Given the description of an element on the screen output the (x, y) to click on. 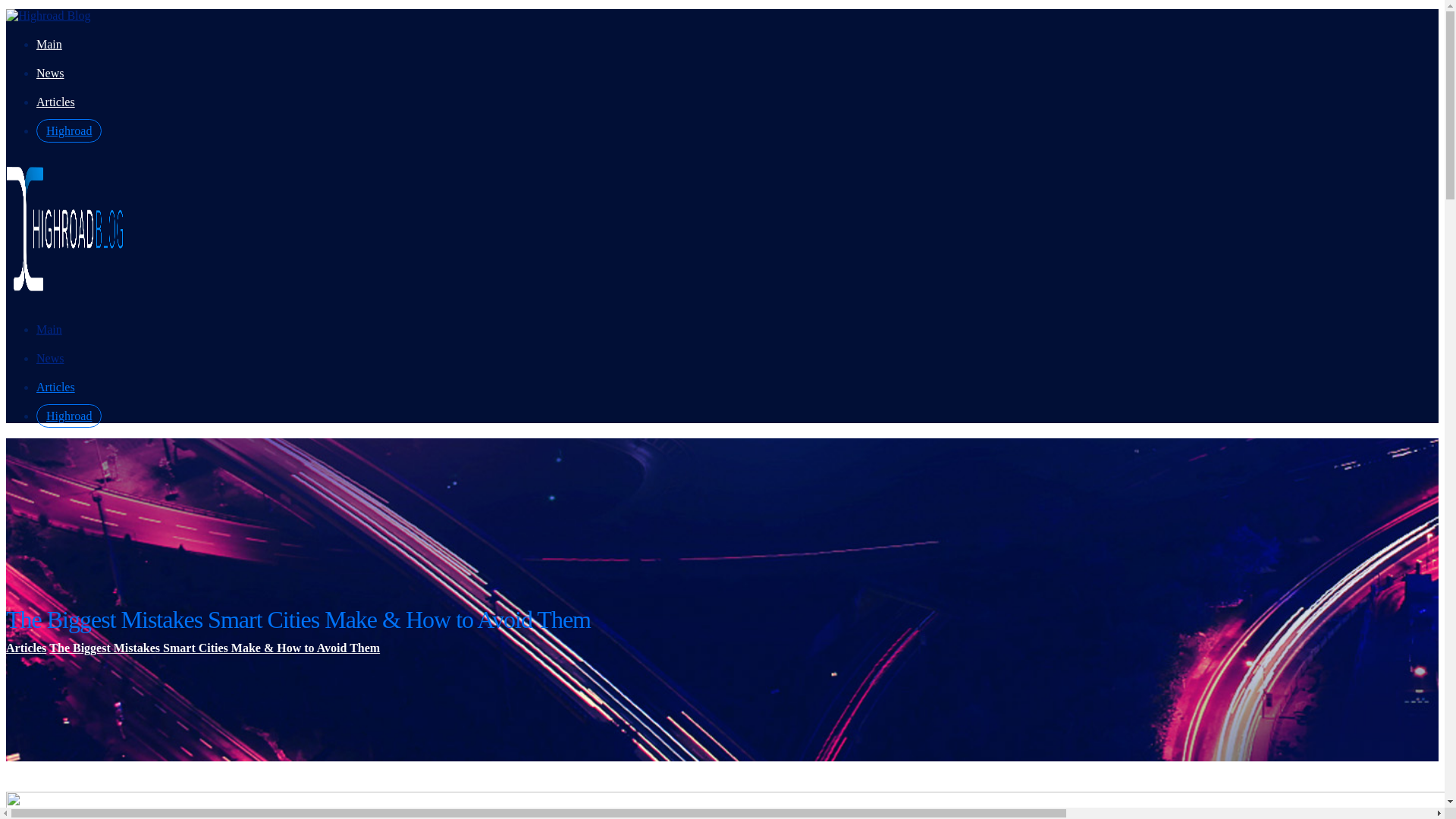
Highroad Element type: text (68, 415)
News Element type: text (49, 72)
Articles Element type: text (55, 101)
The Biggest Mistakes Smart Cities Make & How to Avoid Them Element type: text (214, 647)
Highroad Element type: text (68, 130)
News Element type: text (49, 357)
Main Element type: text (49, 329)
Articles Element type: text (55, 386)
Articles Element type: text (26, 647)
Main Element type: text (49, 43)
